Given the description of an element on the screen output the (x, y) to click on. 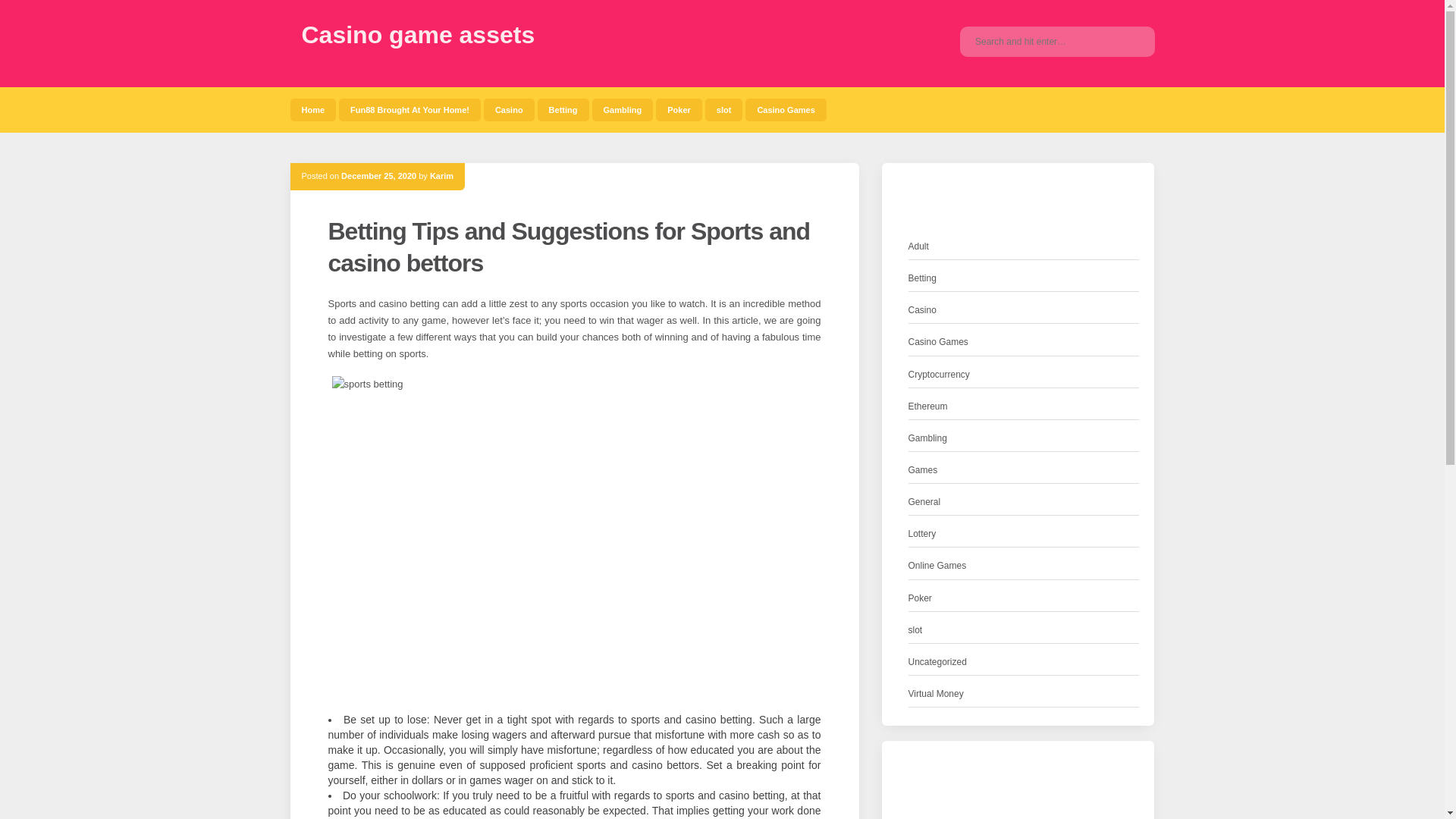
Casino (922, 310)
Uncategorized (937, 662)
Poker (919, 598)
Gambling (927, 438)
Casino (508, 109)
Cryptocurrency (938, 374)
Poker (678, 109)
Betting (922, 278)
Home (312, 109)
Search (1131, 41)
